Given the description of an element on the screen output the (x, y) to click on. 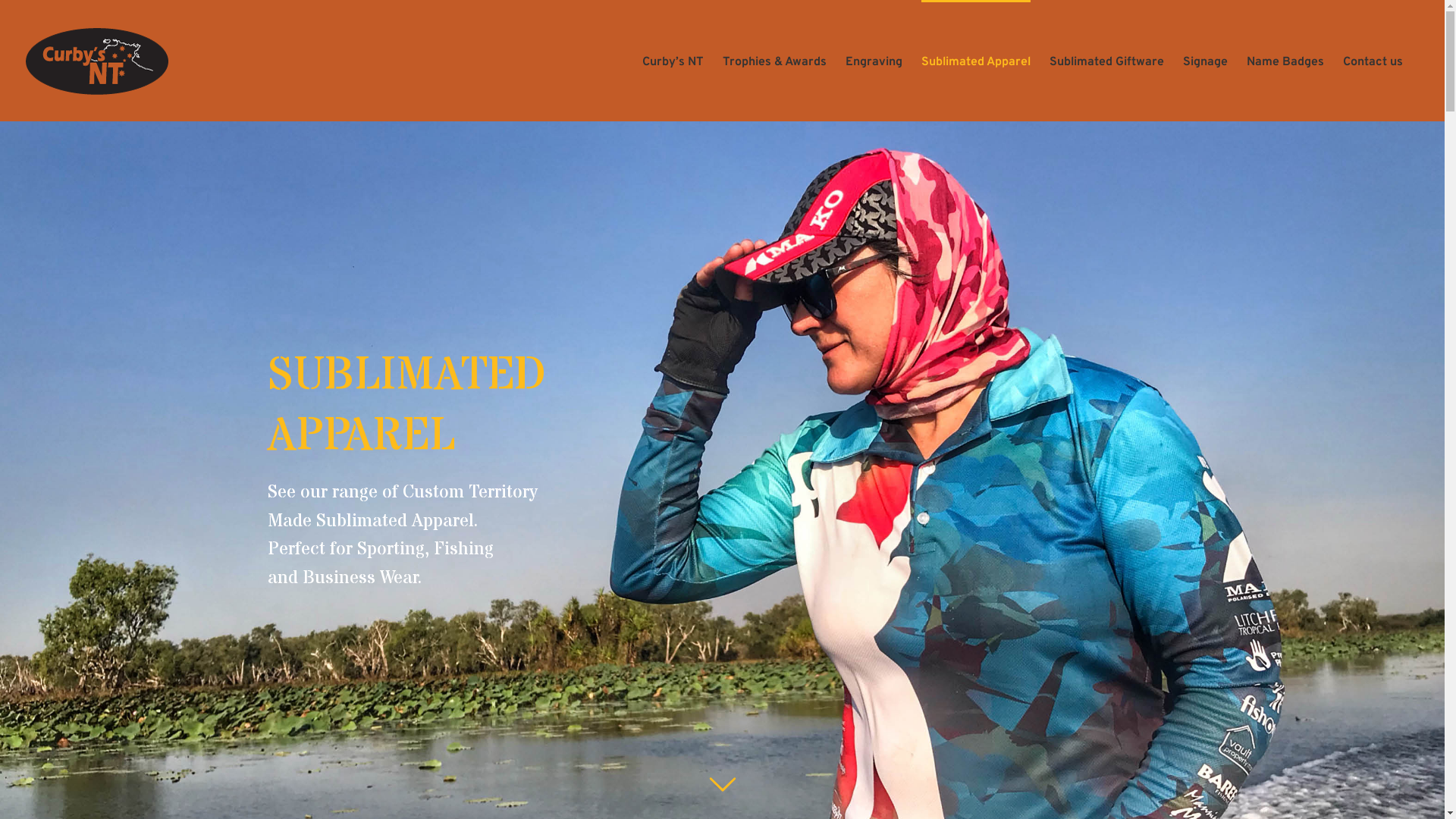
Contact us Element type: text (1372, 60)
Name Badges Element type: text (1285, 60)
Signage Element type: text (1205, 60)
Sublimated Giftware Element type: text (1106, 60)
Trophies & Awards Element type: text (774, 60)
Engraving Element type: text (873, 60)
Sublimated Apparel Element type: text (975, 60)
